Given the description of an element on the screen output the (x, y) to click on. 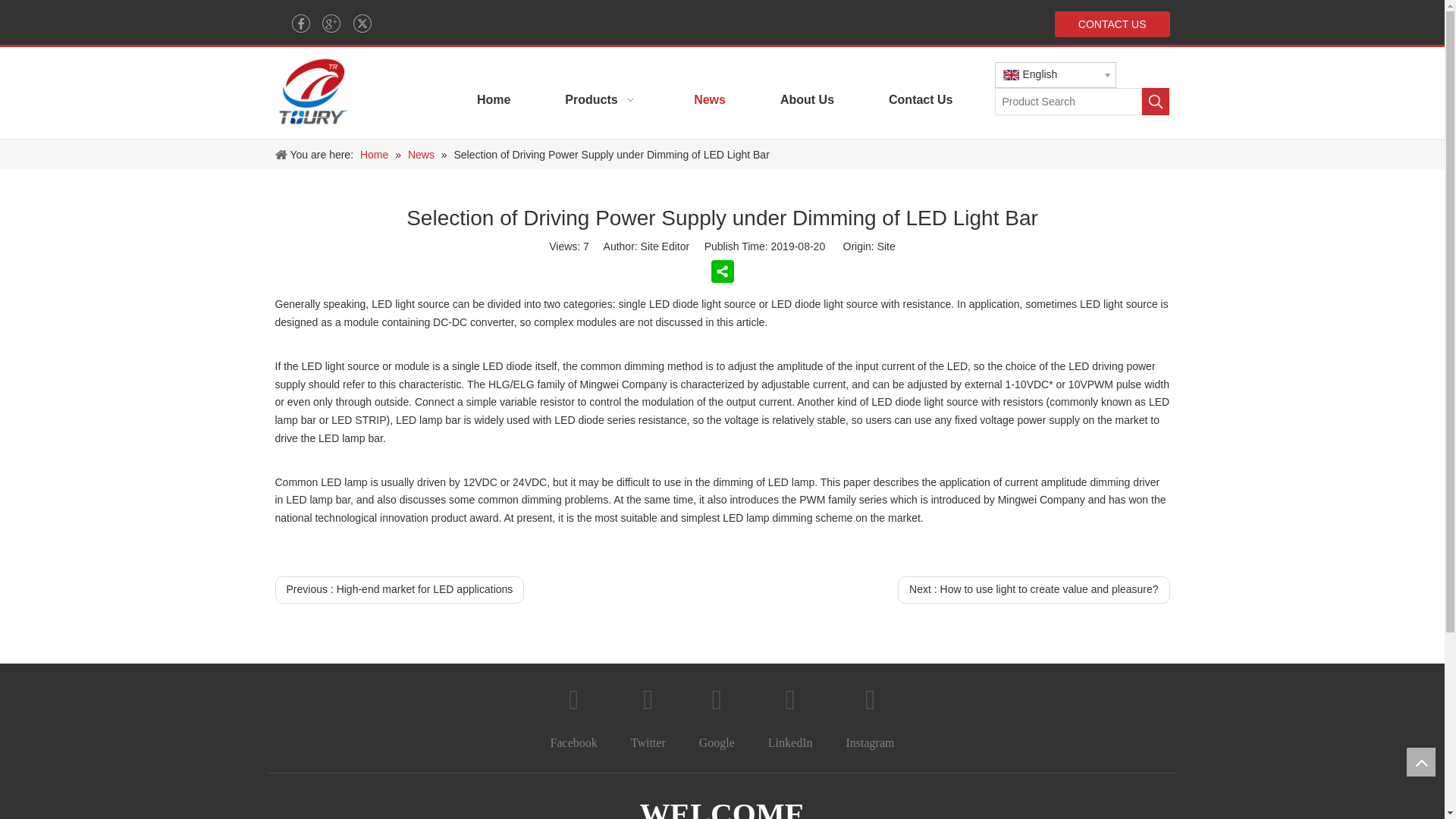
Products   (601, 99)
Previous : High-end market for LED applications (399, 589)
News (422, 154)
Home (493, 99)
Next : How to use light to create value and pleasure? (1033, 589)
CONTACT US (1112, 23)
Home (375, 154)
Facebook (300, 23)
Site (886, 246)
top (1420, 761)
News (709, 99)
About Us (806, 99)
Contact Us (920, 99)
Twitter (361, 23)
